Given the description of an element on the screen output the (x, y) to click on. 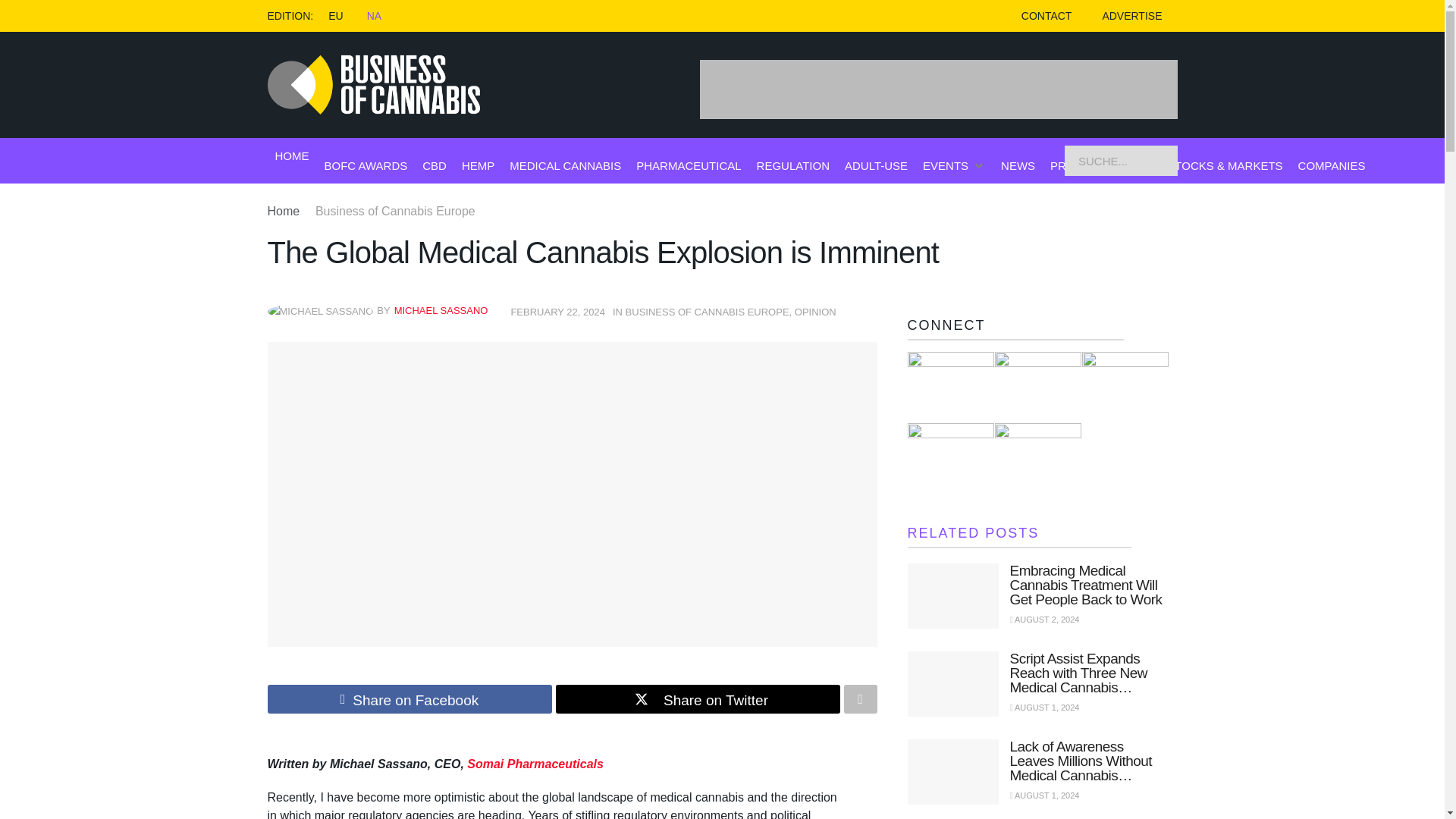
ADVERTISE (1131, 15)
MICHAEL SASSANO (440, 310)
BOFC AWARDS (365, 165)
PHARMACEUTICAL (688, 165)
ADULT-USE (875, 165)
HOME (291, 156)
Share on Facebook (408, 698)
COMPANIES (1331, 165)
HEMP (478, 165)
BUSINESS OF CANNABIS EUROPE (707, 311)
Share on Twitter (697, 698)
EVENTS (945, 165)
FEBRUARY 22, 2024 (558, 311)
Home (282, 210)
CONTACT (1046, 15)
